Given the description of an element on the screen output the (x, y) to click on. 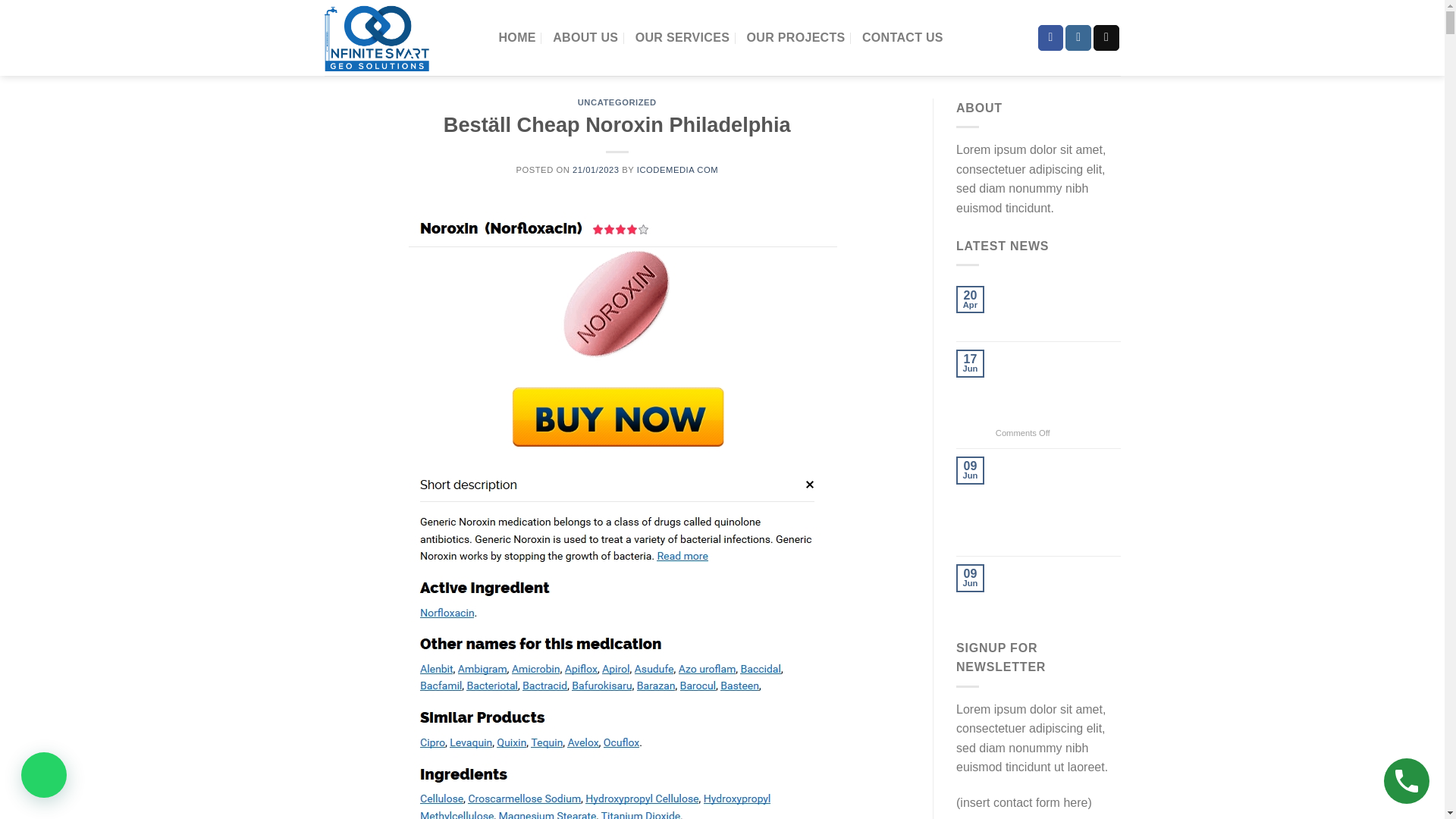
HOME (517, 37)
CONTACT US (902, 37)
Follow on Instagram (1077, 37)
UNCATEGORIZED (617, 102)
ICODEMEDIA COM (677, 169)
7 Arab Males Tell Us Their Relationship Deal-breakers (1058, 586)
Follow on Facebook (1051, 37)
OUR SERVICES (681, 37)
DNA Purification Procedure: A Comprehensive Study (1058, 307)
Send us an email (1106, 37)
